Given the description of an element on the screen output the (x, y) to click on. 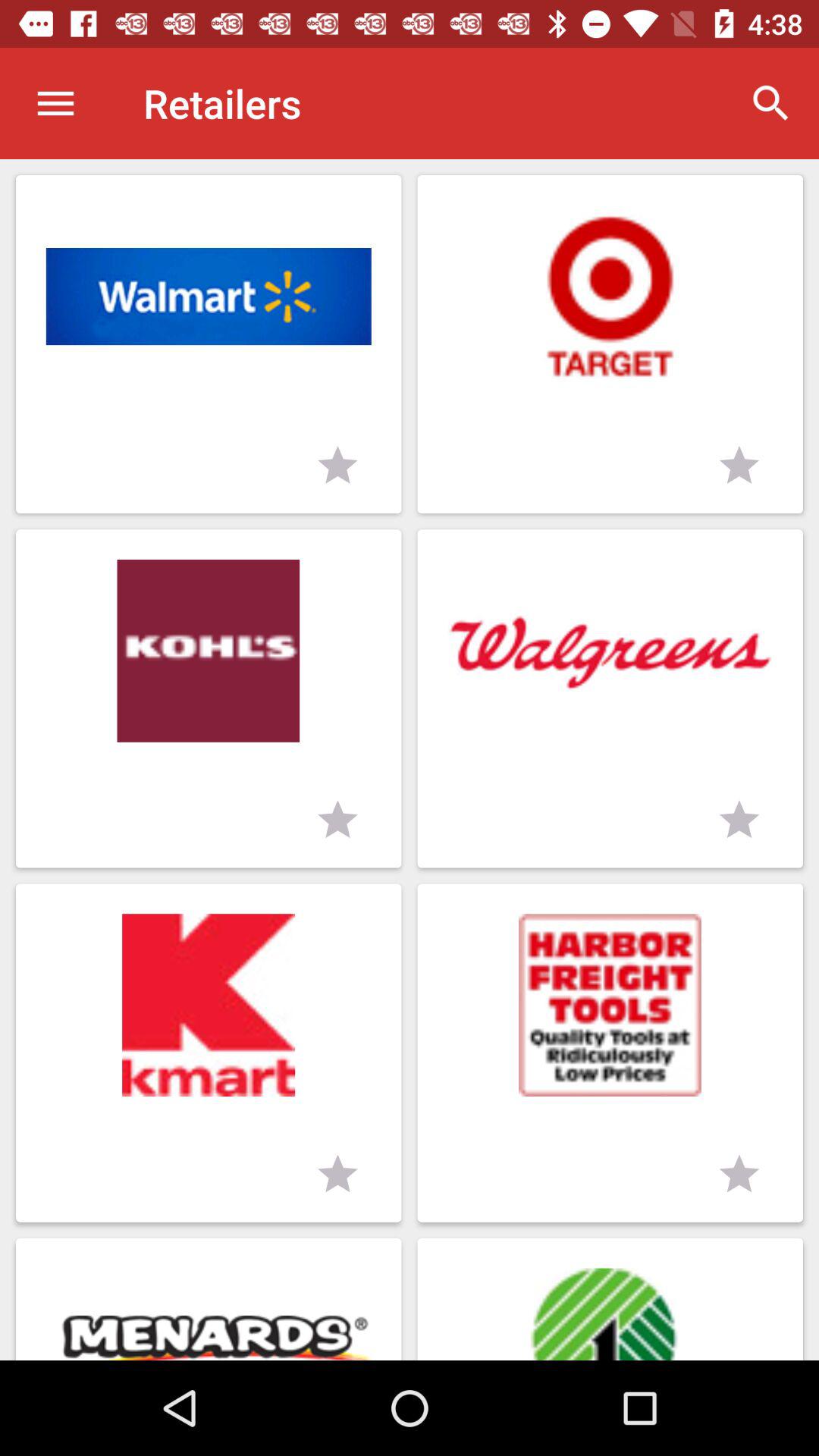
tap the item to the right of retailers (771, 103)
